Given the description of an element on the screen output the (x, y) to click on. 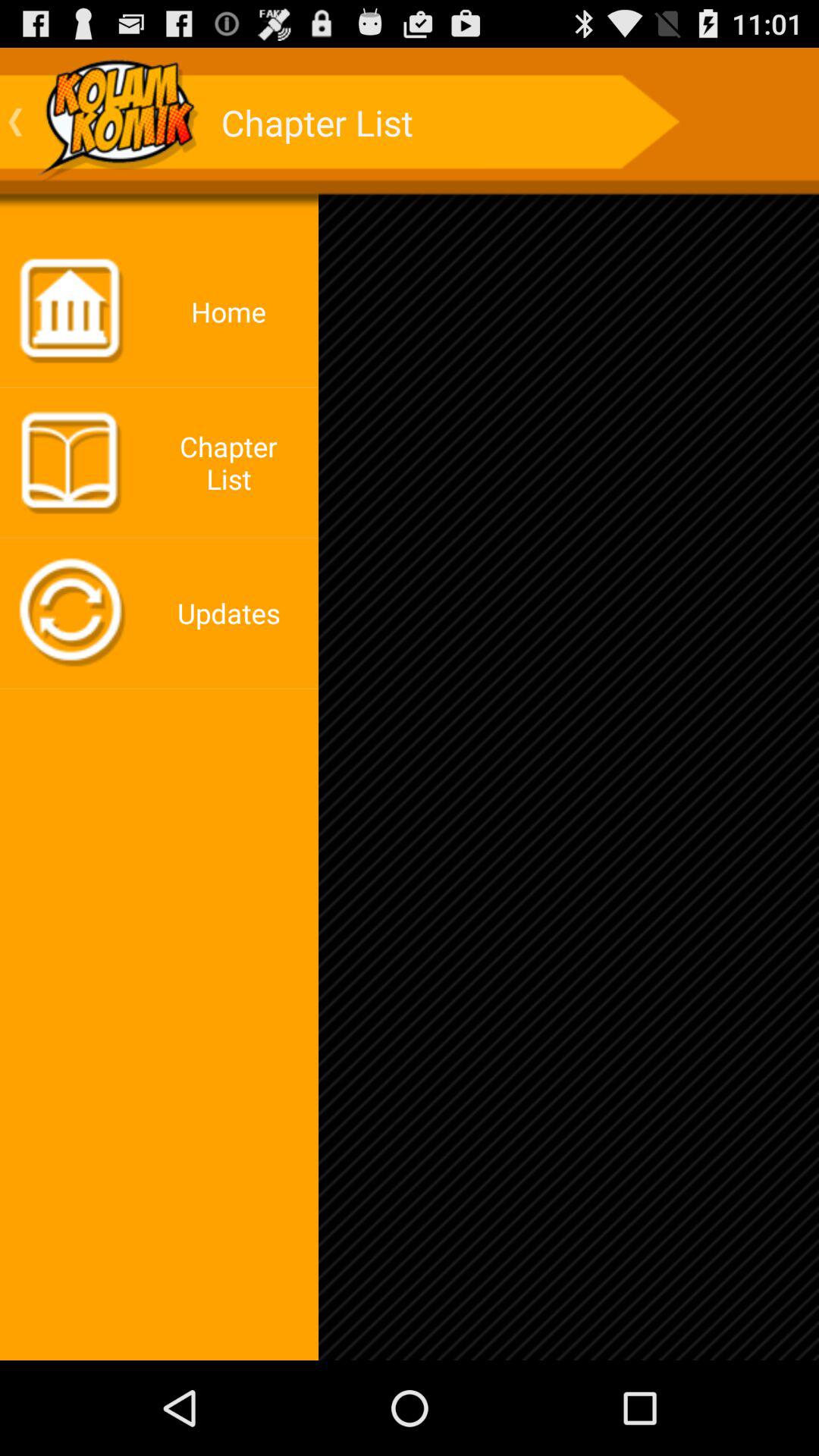
click the icon at the center (409, 703)
